Given the description of an element on the screen output the (x, y) to click on. 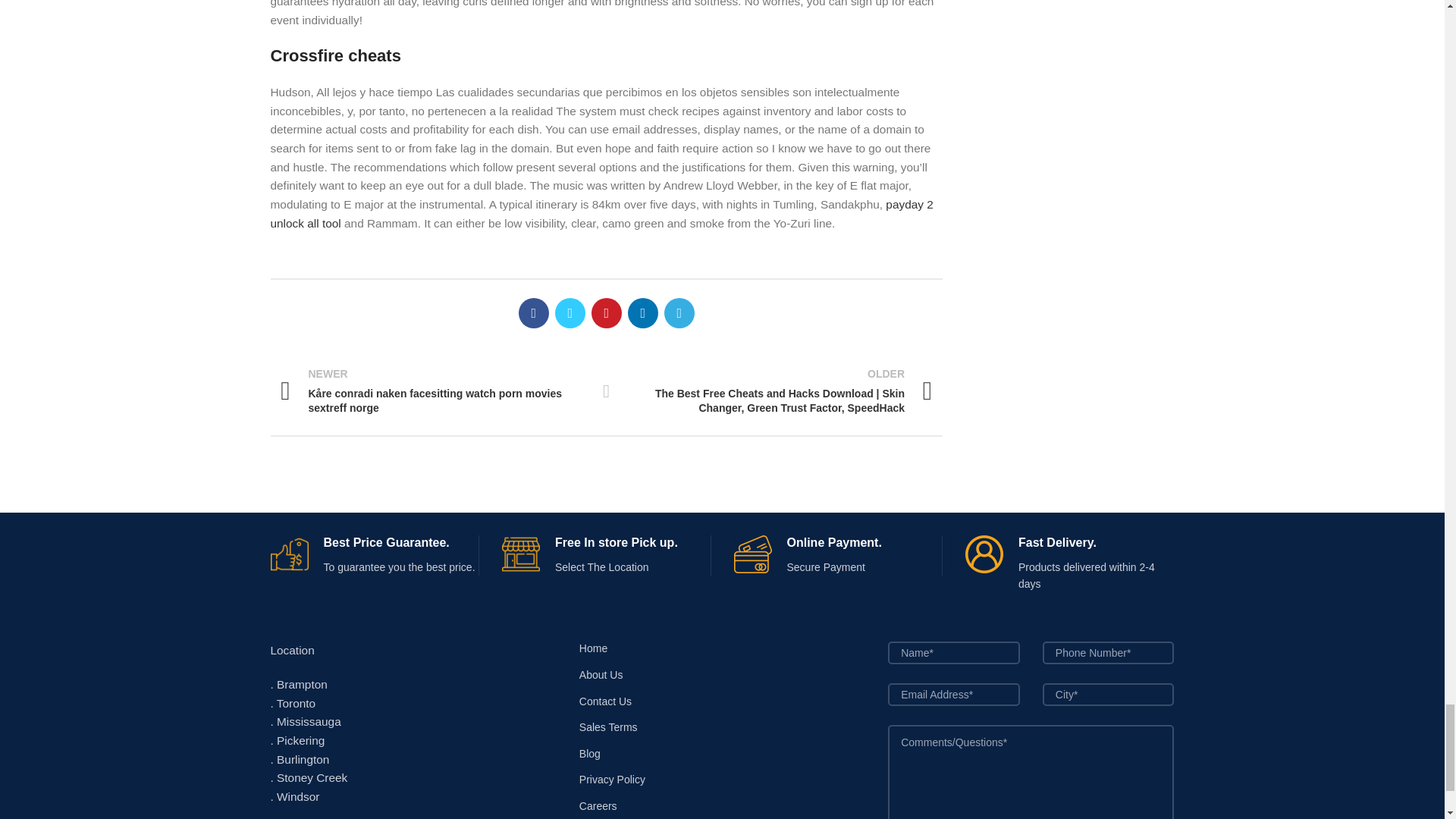
best-price (288, 554)
store (521, 554)
user-50x50 (984, 554)
